Given the description of an element on the screen output the (x, y) to click on. 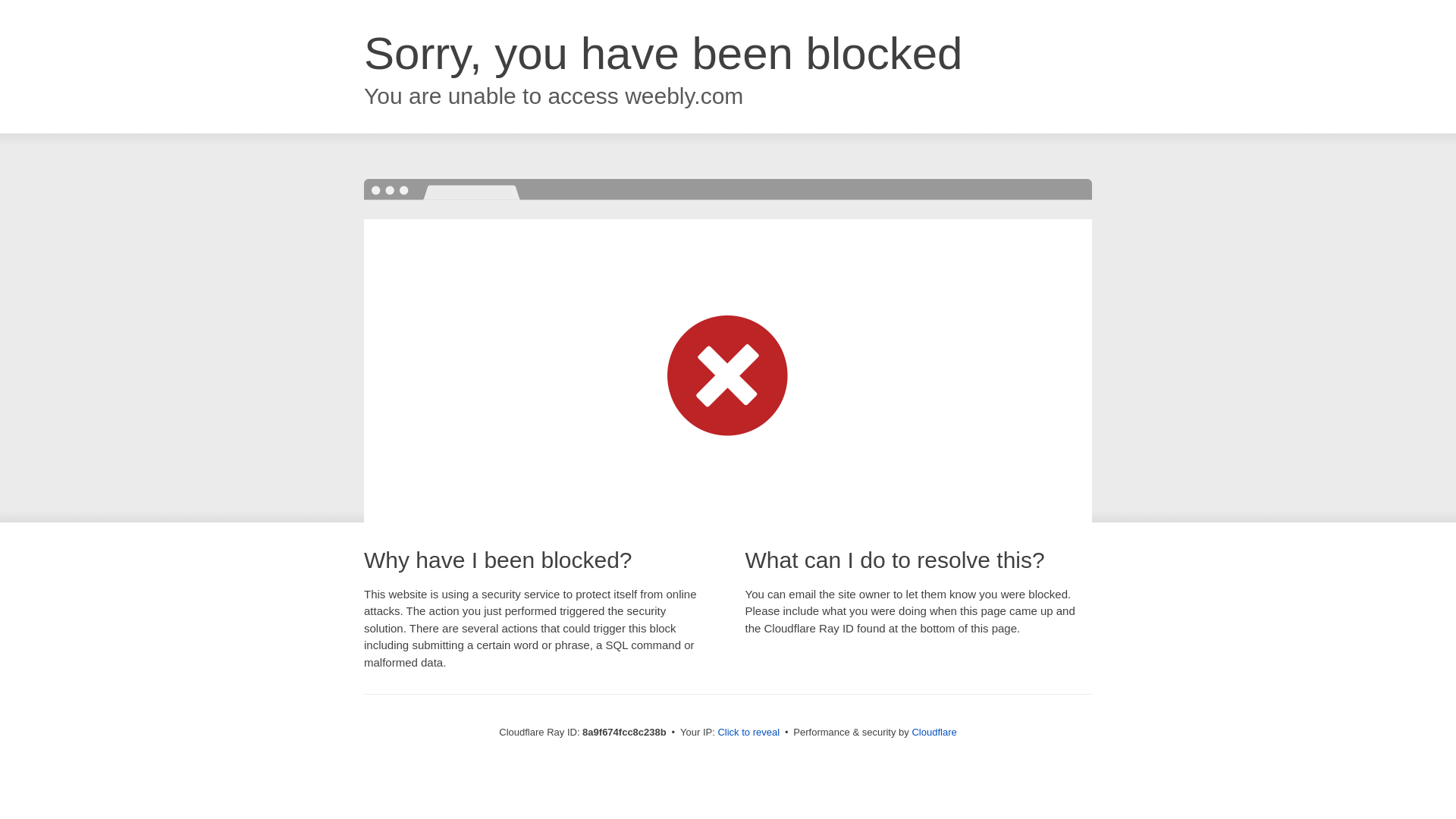
Click to reveal (747, 732)
Cloudflare (933, 731)
